Given the description of an element on the screen output the (x, y) to click on. 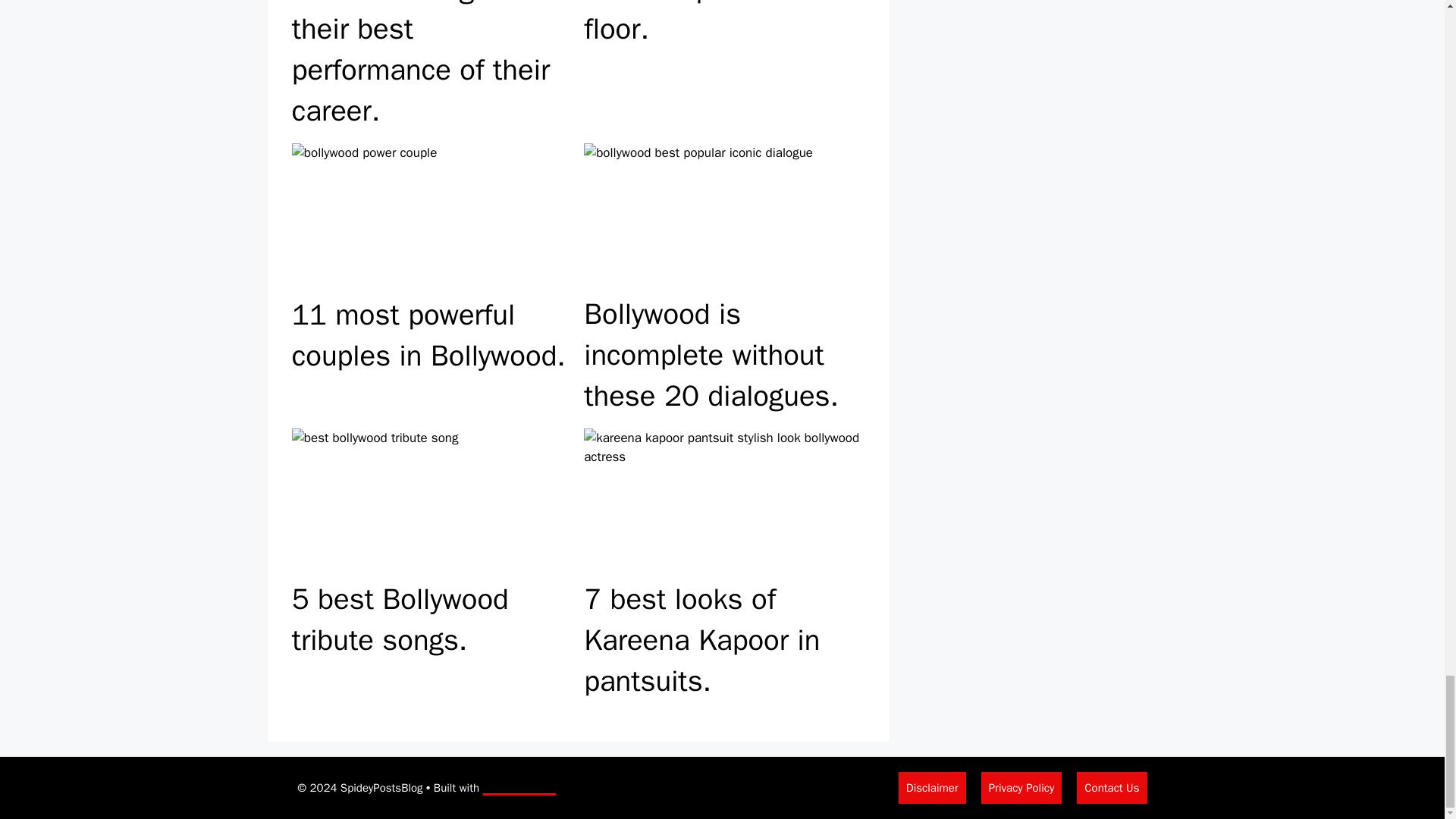
When Shah Rukh Khan slept on a bus floor. (723, 68)
5 best Bollywood tribute songs. (431, 564)
7 best looks of Kareena Kapoor in pantsuits. (723, 564)
11 most powerful couples in Bollywood. (431, 279)
Bollywood is incomplete without these 20 dialogues. (723, 279)
